Given the description of an element on the screen output the (x, y) to click on. 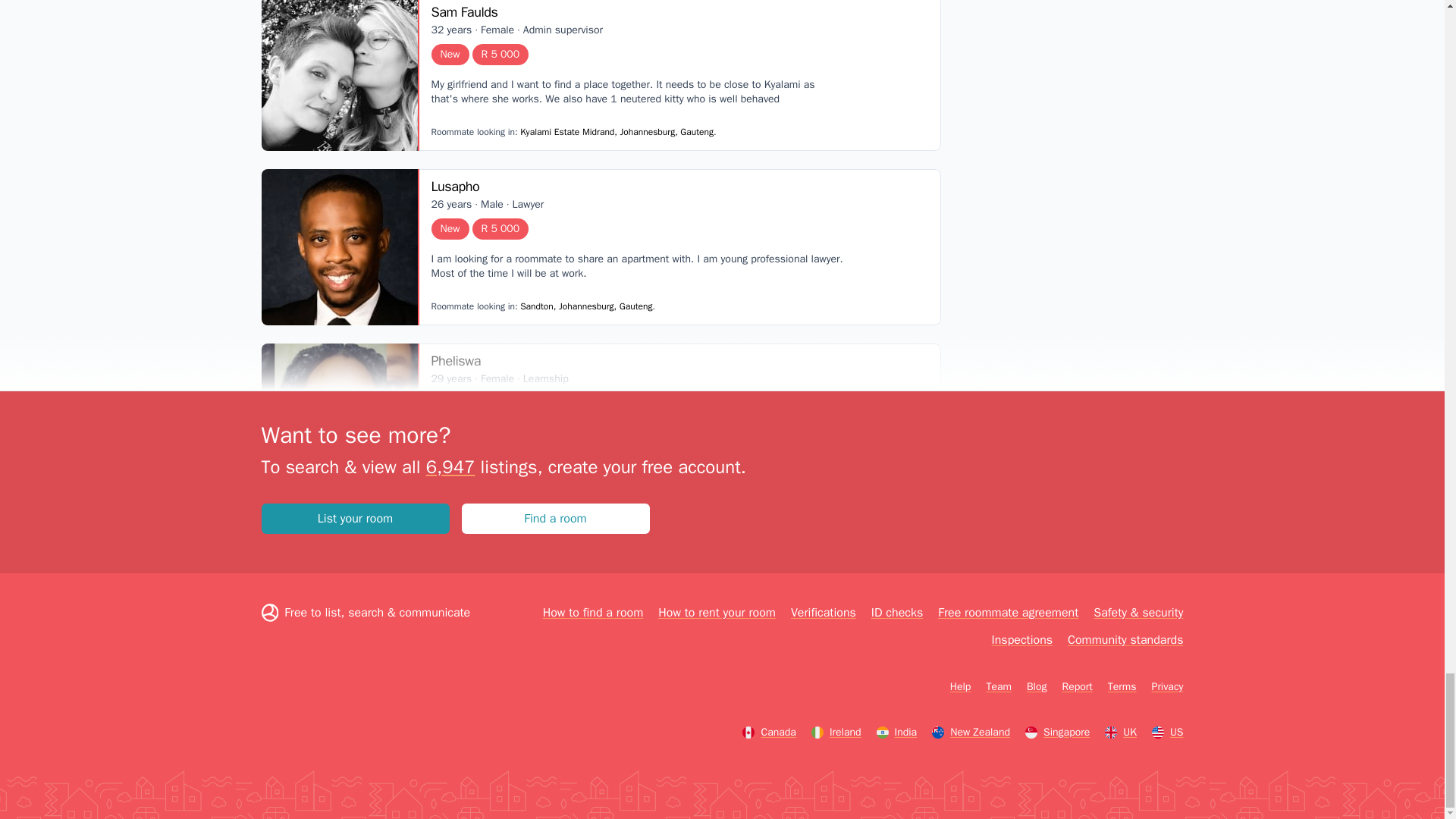
Roomies India (896, 732)
Roomies Singapore (1057, 732)
Roomies United States (1167, 732)
Roomies New Zealand (970, 732)
Roomies Ireland (835, 732)
Roomies Canada (768, 732)
Roomies United Kingdom (1121, 732)
